Given the description of an element on the screen output the (x, y) to click on. 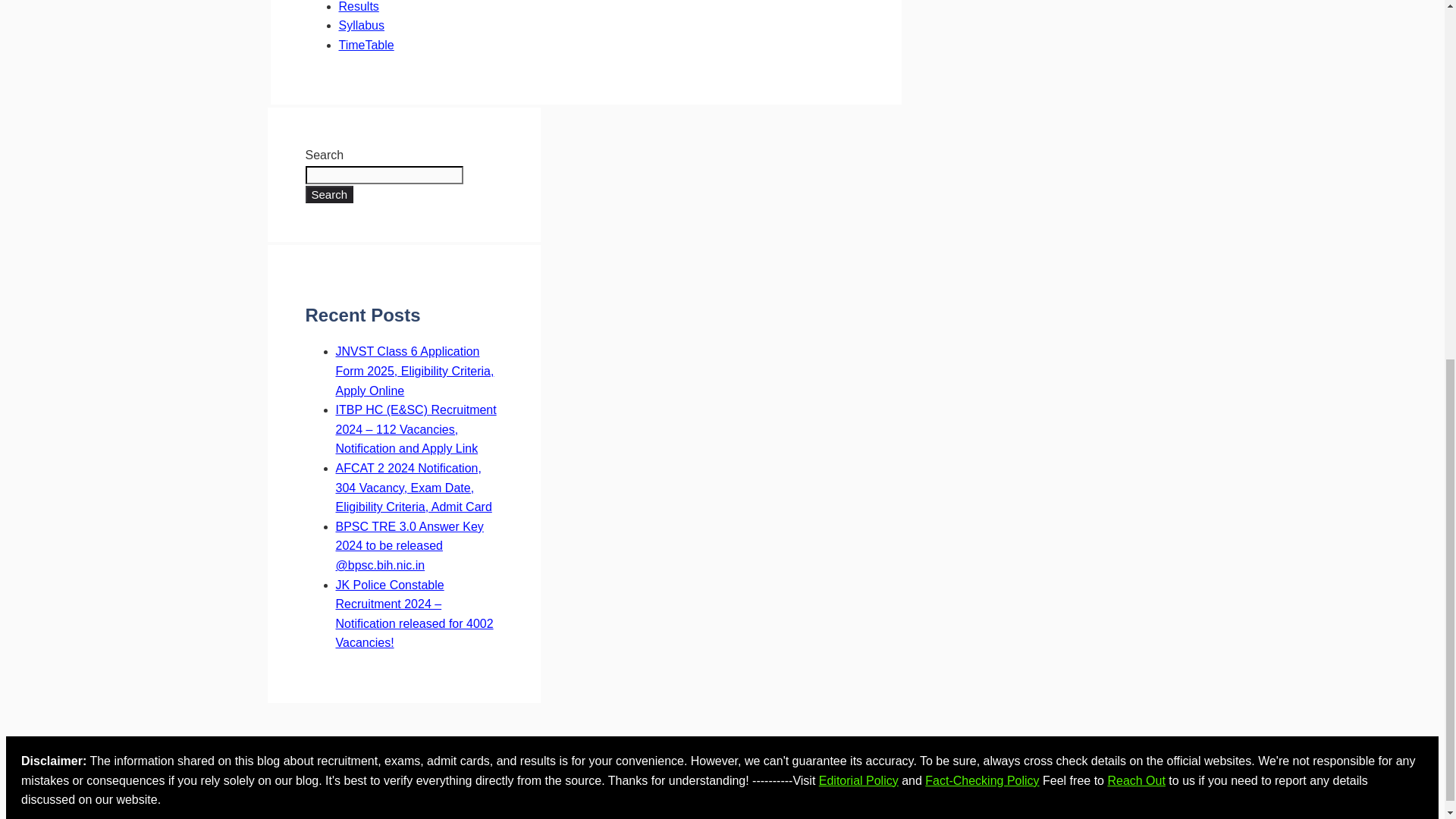
TimeTable (365, 44)
Editorial Policy (858, 780)
Fact-Checking Policy (981, 780)
Reach Out (1135, 780)
Results (357, 6)
Search (328, 193)
Syllabus (360, 24)
